Given the description of an element on the screen output the (x, y) to click on. 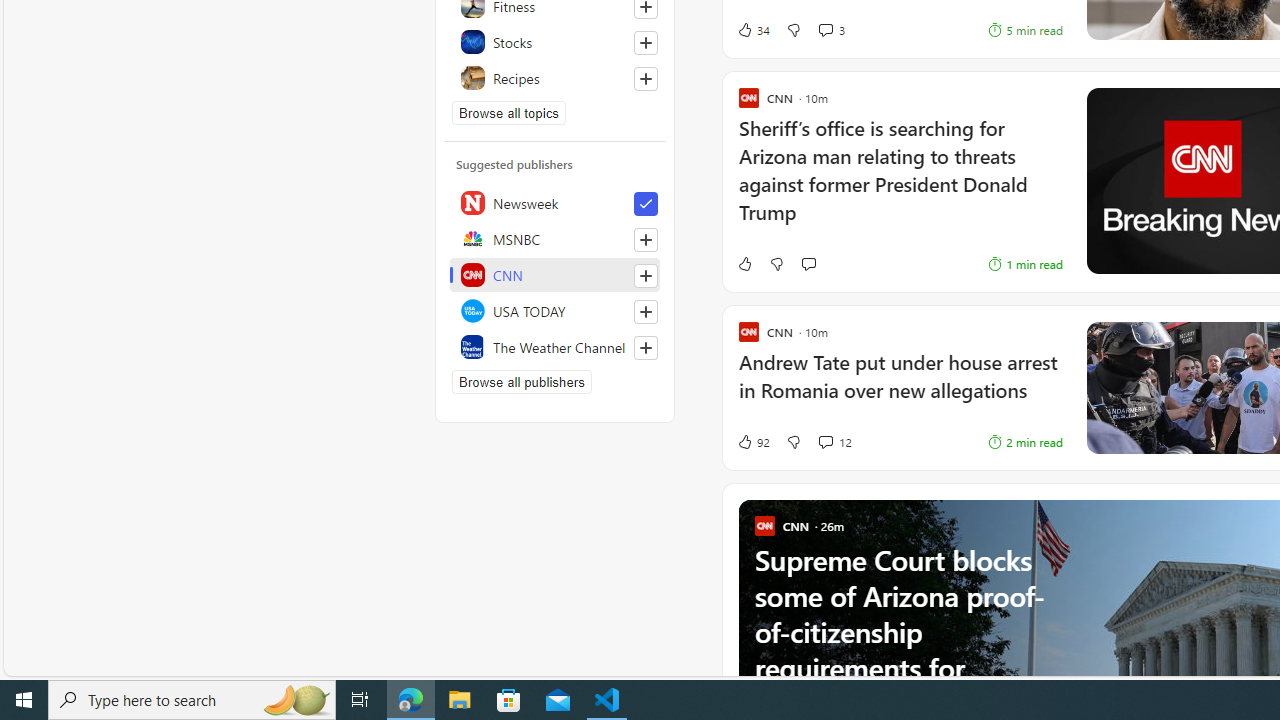
Recipes (555, 78)
Unfollow this source (645, 204)
Start the conversation (808, 264)
34 Like (753, 30)
Follow this topic (645, 78)
View comments 12 Comment (834, 442)
View comments 12 Comment (825, 442)
Newsweek (555, 202)
Browse all publishers (521, 381)
Follow this source (645, 348)
View comments 3 Comment (825, 30)
